Given the description of an element on the screen output the (x, y) to click on. 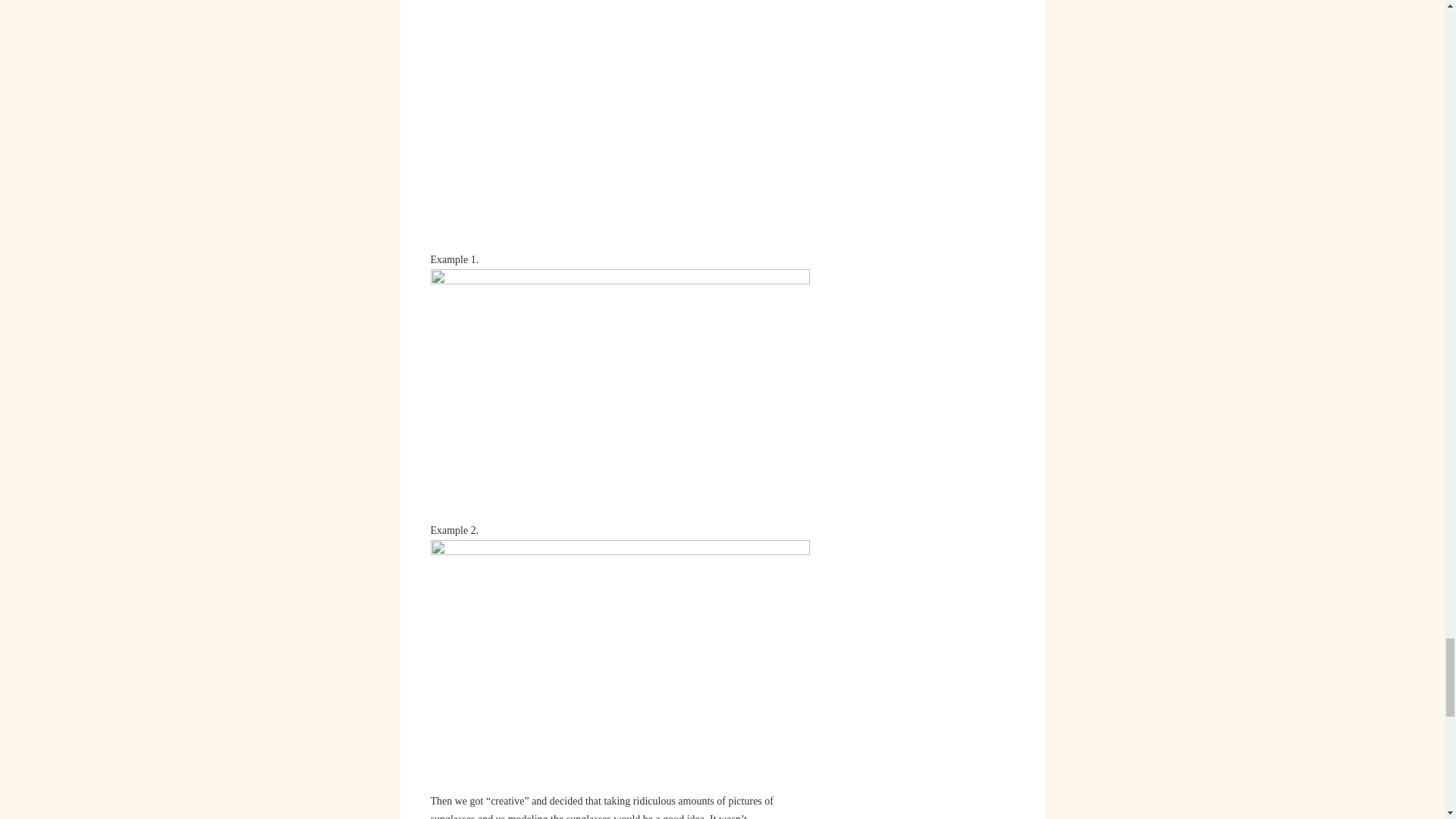
AM4 (619, 124)
AM5 (619, 665)
AM3 (619, 394)
